Given the description of an element on the screen output the (x, y) to click on. 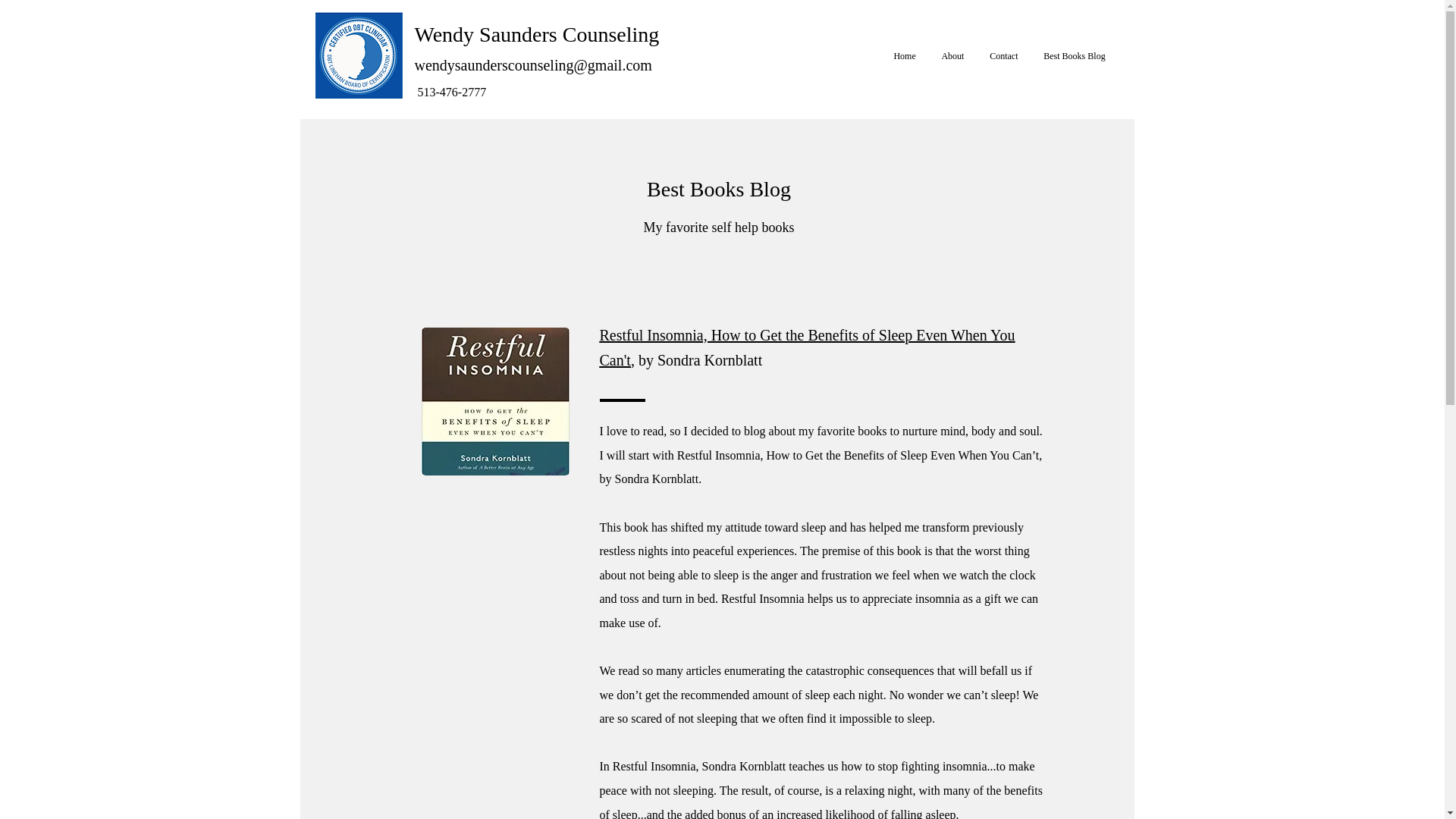
Home (904, 56)
About (952, 56)
Contact (1003, 56)
Best Books Blog (1074, 56)
